Given the description of an element on the screen output the (x, y) to click on. 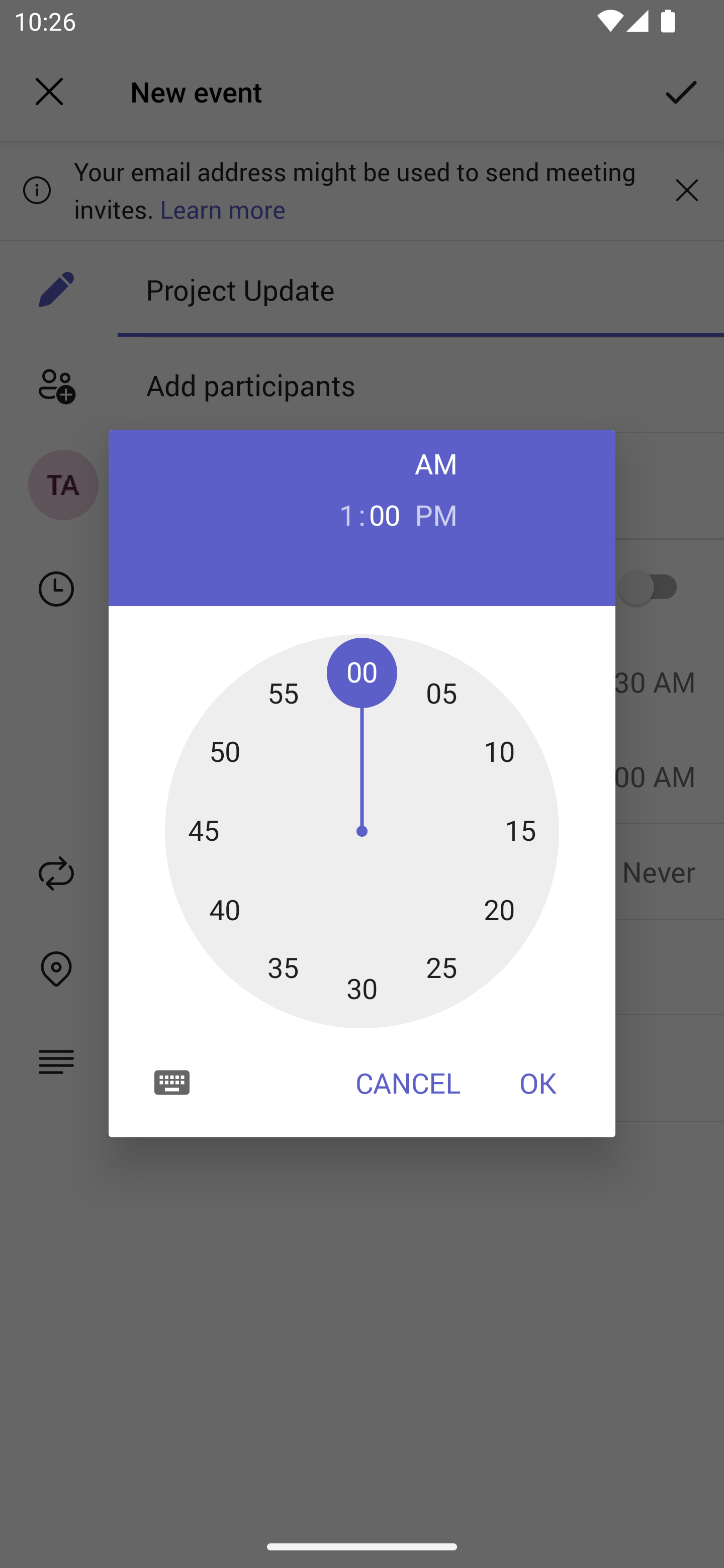
AM (435, 463)
PM (435, 514)
1 (338, 514)
00 (384, 514)
CANCEL (407, 1082)
OK (537, 1082)
Switch to text input mode for the time input. (171, 1081)
